Given the description of an element on the screen output the (x, y) to click on. 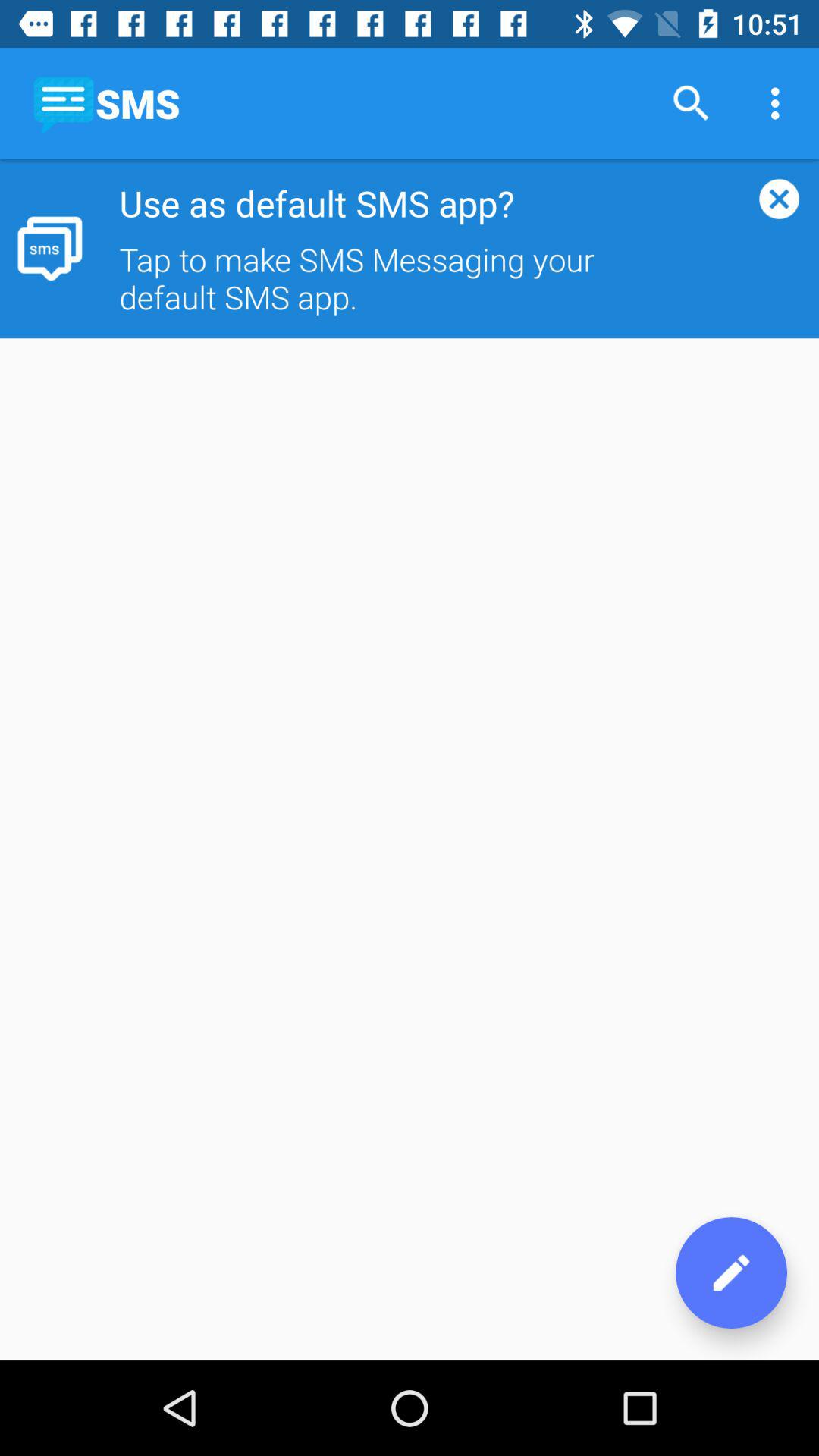
click icon at the bottom right corner (731, 1272)
